Given the description of an element on the screen output the (x, y) to click on. 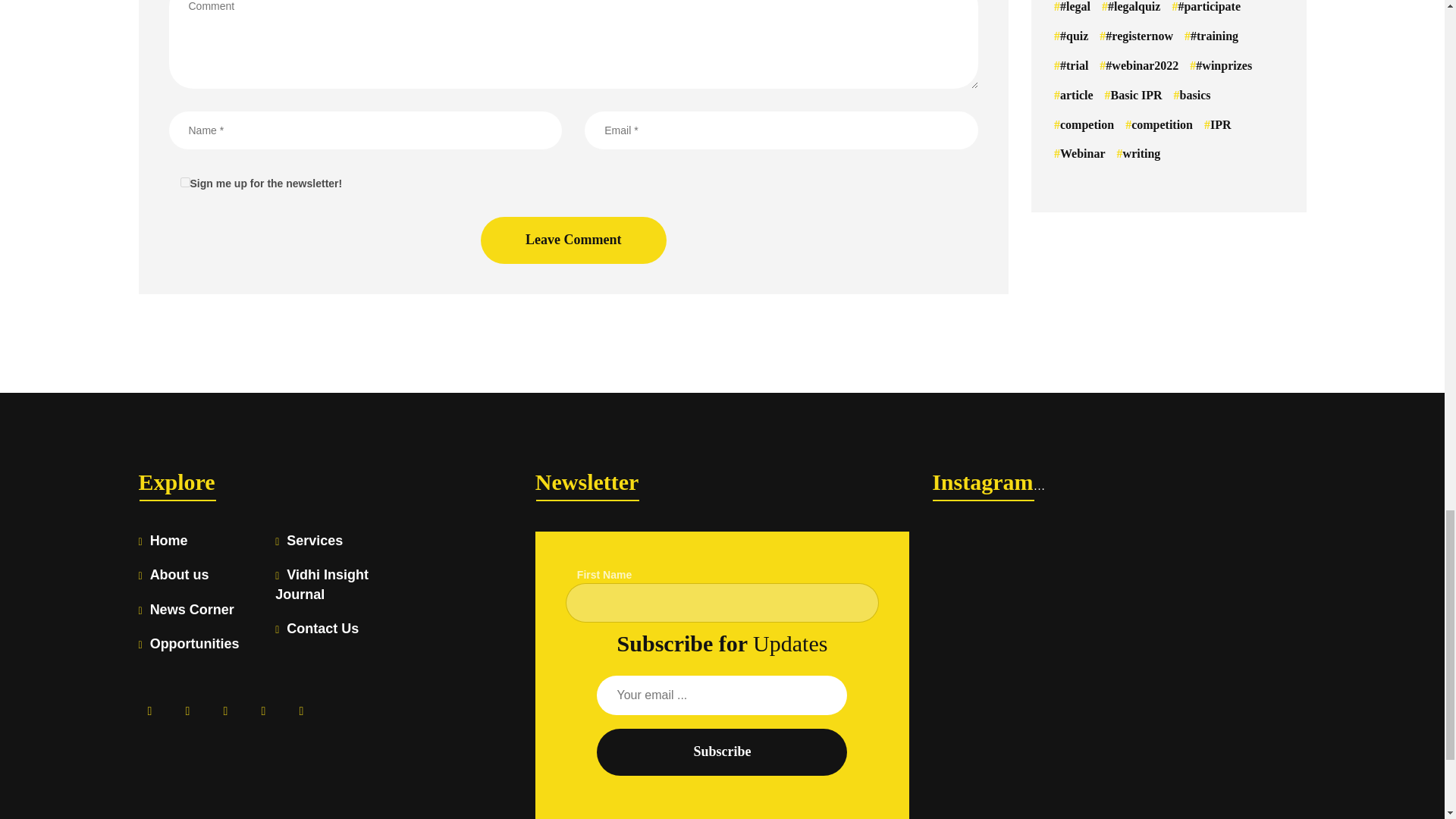
1 (185, 182)
Leave Comment (573, 240)
